Given the description of an element on the screen output the (x, y) to click on. 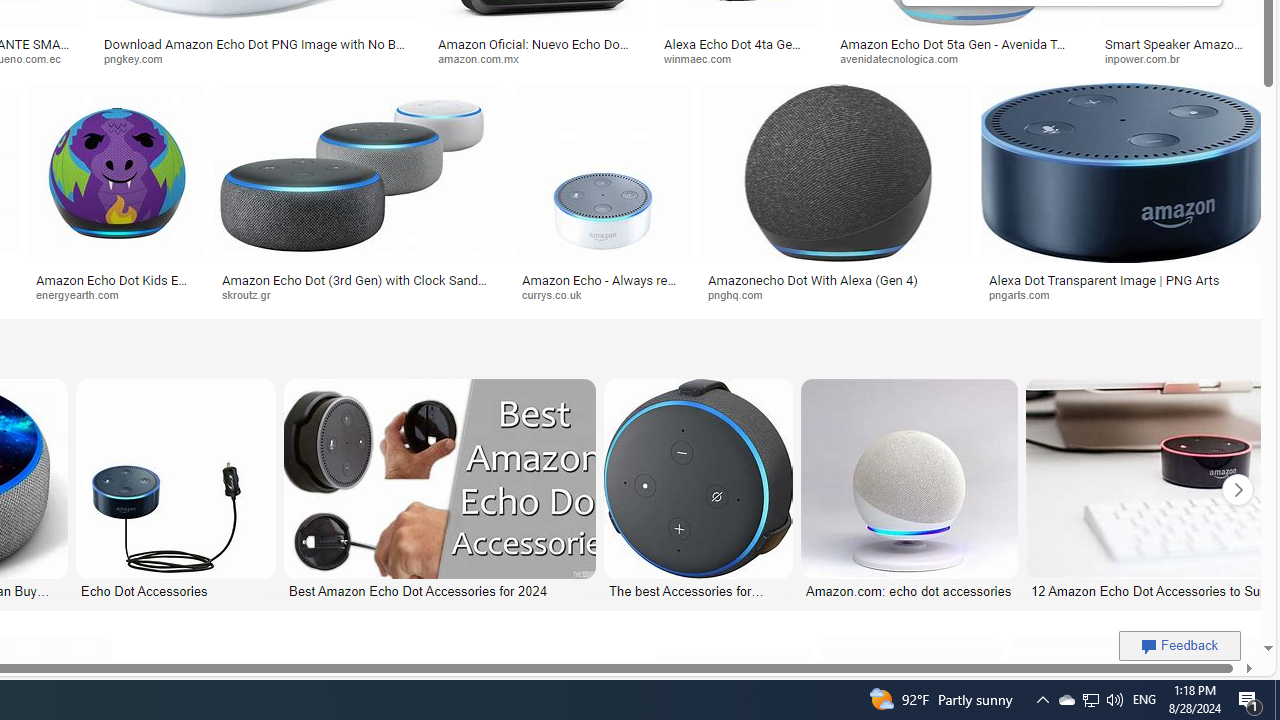
avenidatecnologica.com (960, 58)
pngkey.com (258, 58)
pnghq.com (836, 295)
